Given the description of an element on the screen output the (x, y) to click on. 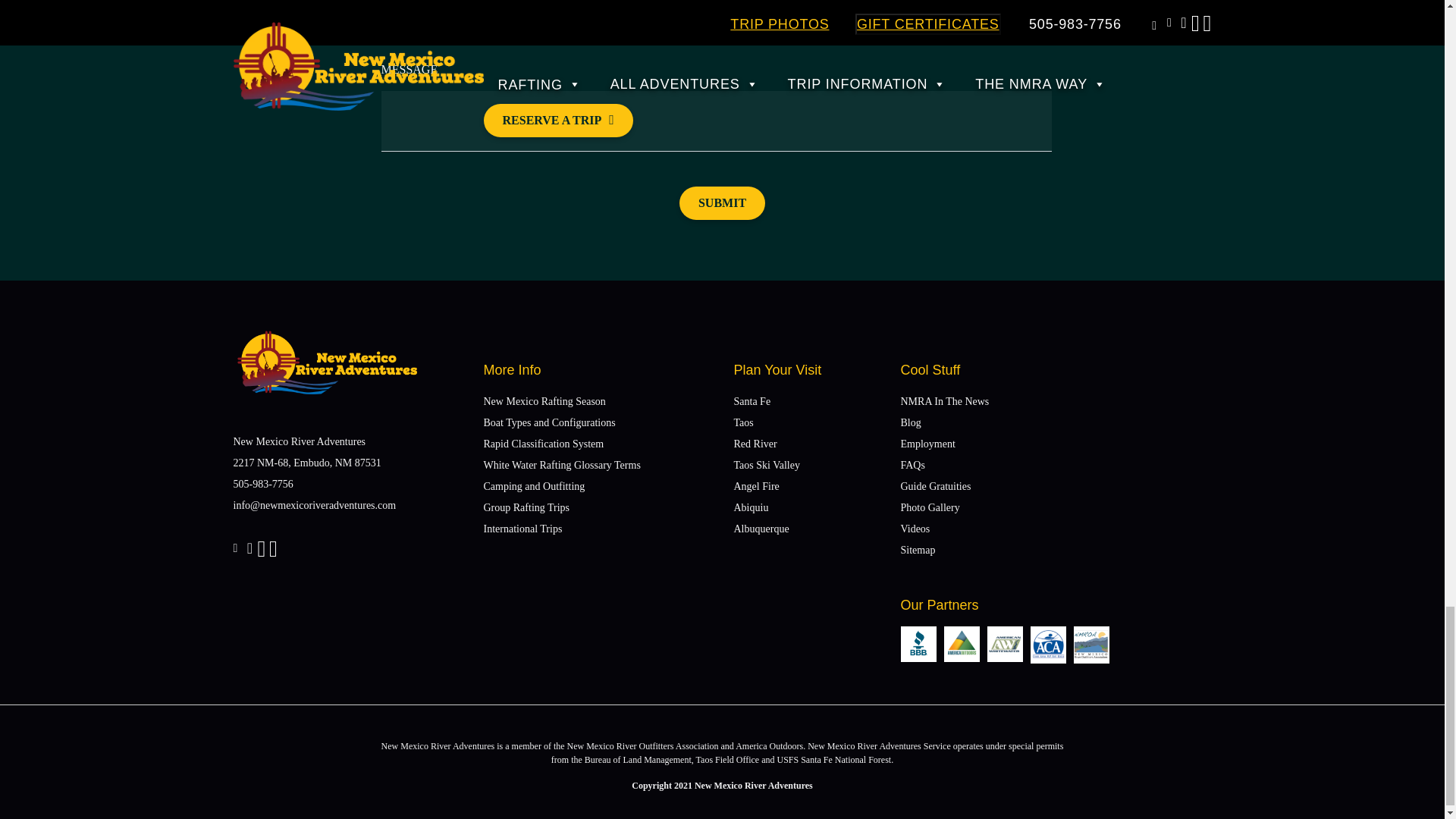
Submit (722, 203)
